Given the description of an element on the screen output the (x, y) to click on. 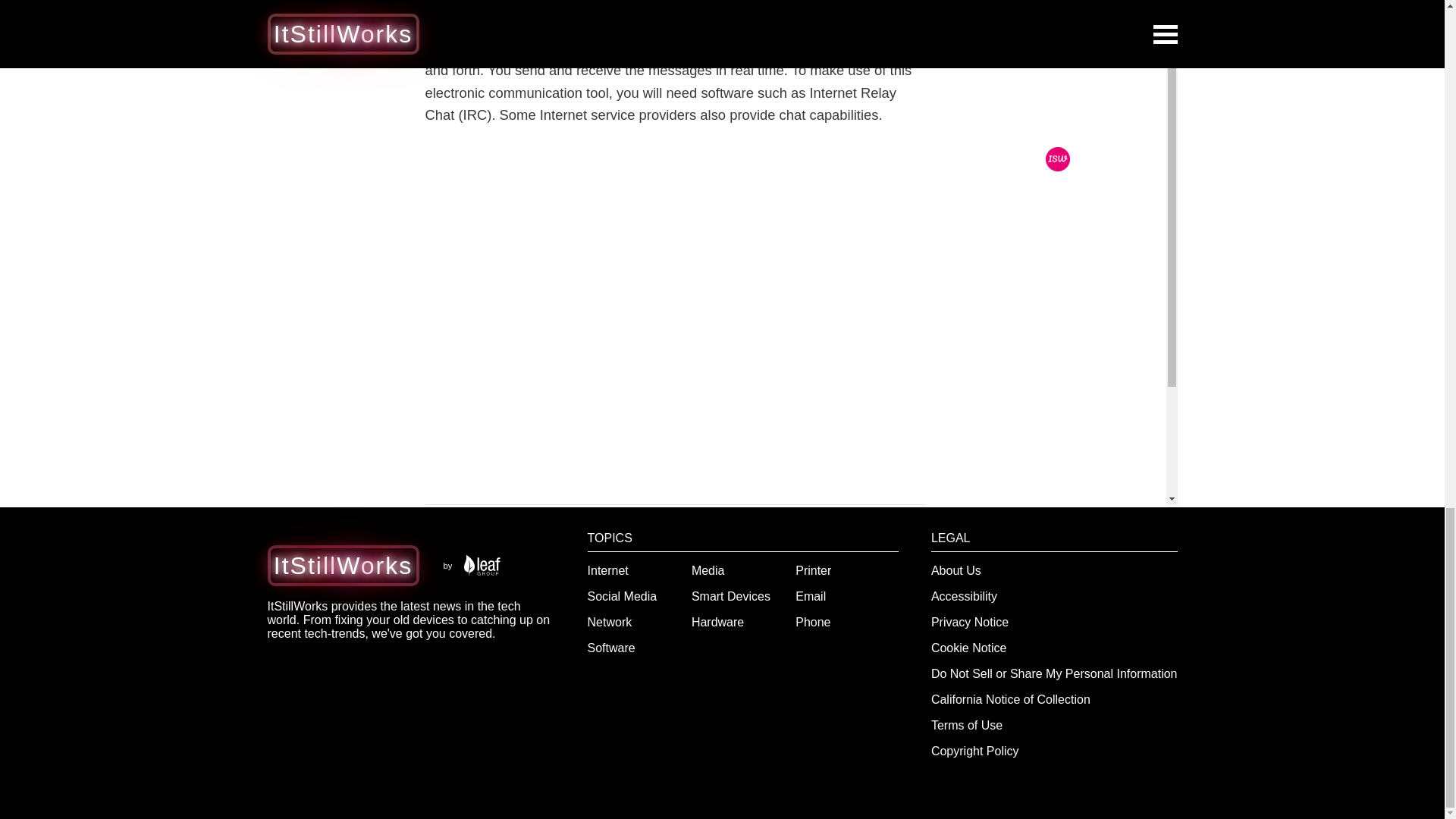
Do Not Sell or Share My Personal Information (1054, 673)
Privacy Notice (970, 621)
Printer (812, 570)
Internet (608, 570)
Hardware (717, 621)
Social Media (623, 595)
Software (611, 647)
Network (609, 621)
Copyright Policy (975, 750)
Phone (811, 621)
Media (708, 570)
Accessibility (964, 595)
About Us (956, 570)
Cookie Notice (969, 647)
California Notice of Collection (1010, 698)
